Given the description of an element on the screen output the (x, y) to click on. 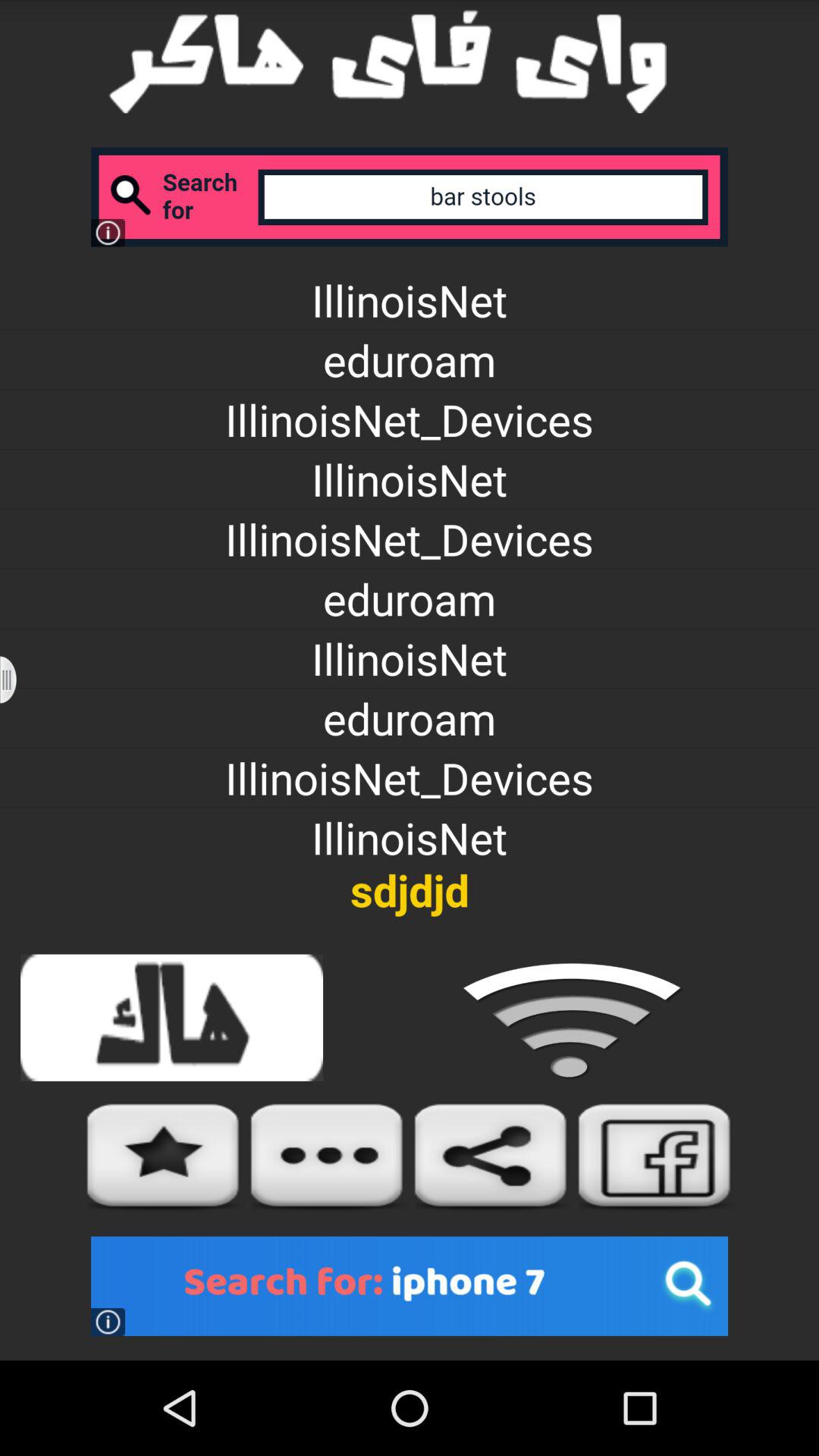
advertisements (409, 1285)
